Given the description of an element on the screen output the (x, y) to click on. 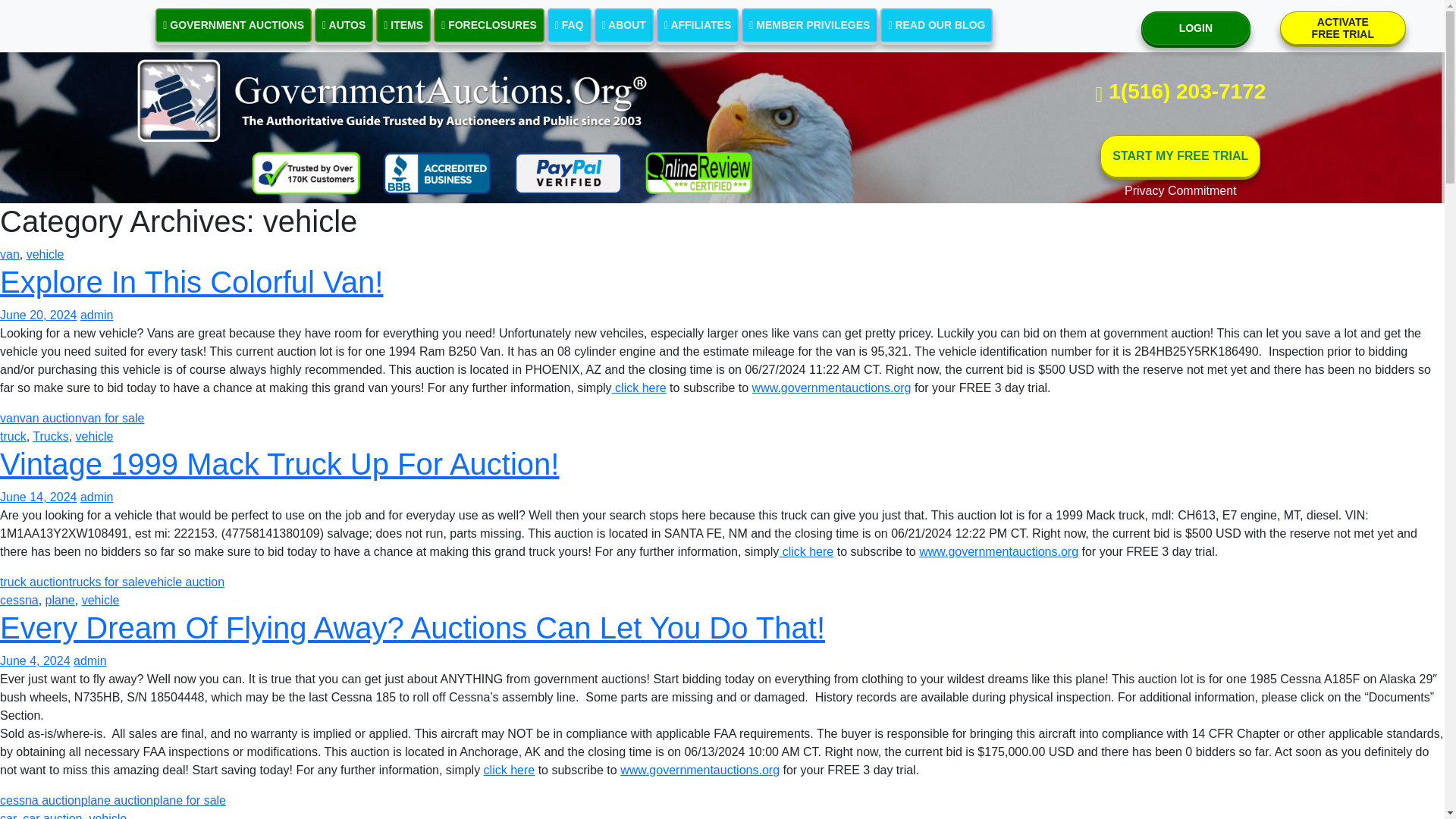
READ OUR BLOG (936, 25)
FAQ (569, 25)
START MY FREE TRIAL (1180, 156)
ITEMS (402, 25)
View all posts in cessna (19, 599)
View all posts in vehicle (107, 815)
View all posts in vehicle (100, 599)
AUTOS (343, 25)
View all posts in car (1342, 28)
GOVERNMENT AUCTIONS (8, 815)
FORECLOSURES (233, 25)
View all posts in vehicle (488, 25)
Privacy Commitment (45, 254)
View all posts in plane (1180, 190)
